Given the description of an element on the screen output the (x, y) to click on. 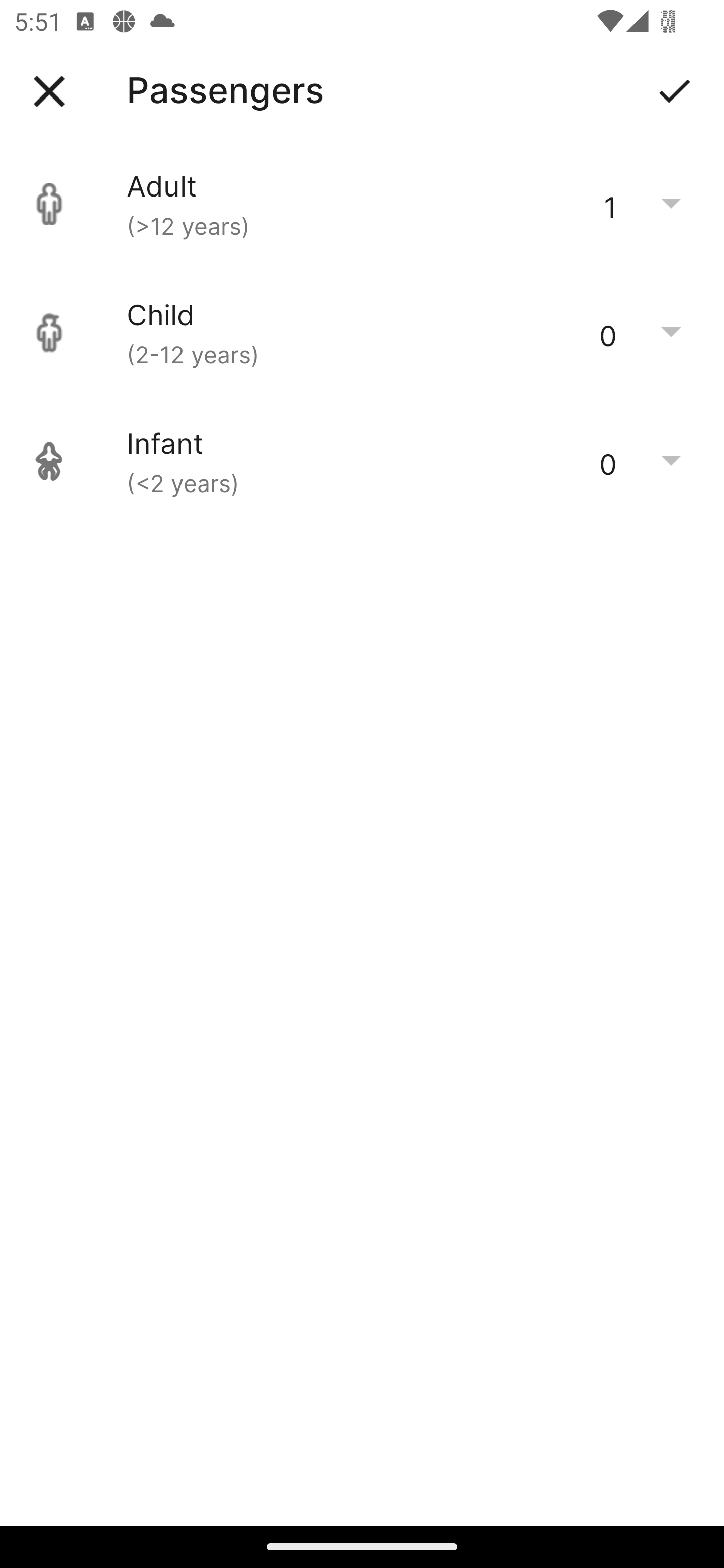
Adult (>12 years) 1 (362, 204)
Child (2-12 years) 0 (362, 332)
Infant (<2 years) 0 (362, 461)
